Given the description of an element on the screen output the (x, y) to click on. 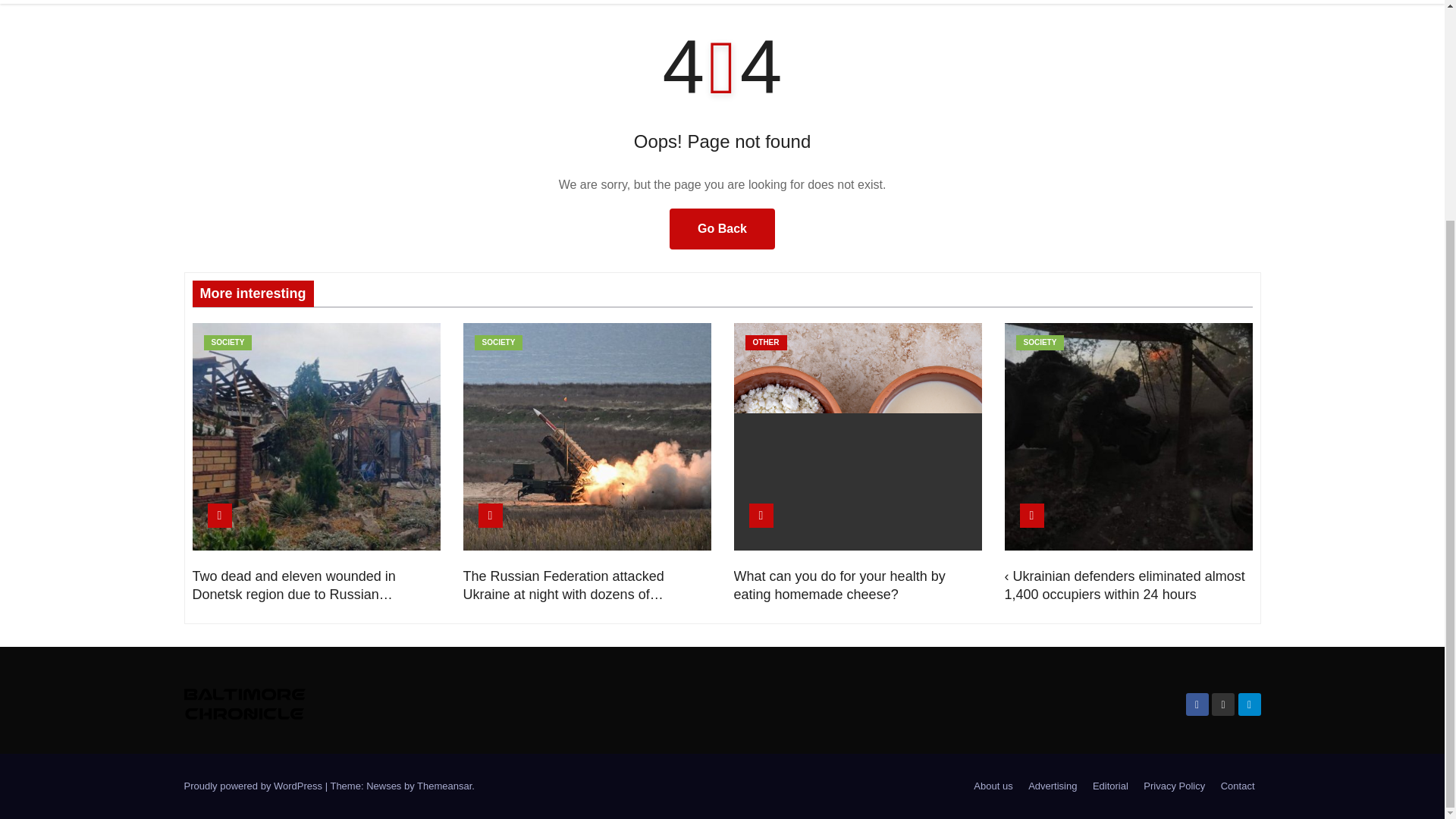
Contact (1237, 786)
Privacy Policy (1174, 786)
About us (992, 786)
SOCIETY (227, 342)
Editorial (1110, 786)
Advertising (1052, 786)
SOCIETY (498, 342)
